Given the description of an element on the screen output the (x, y) to click on. 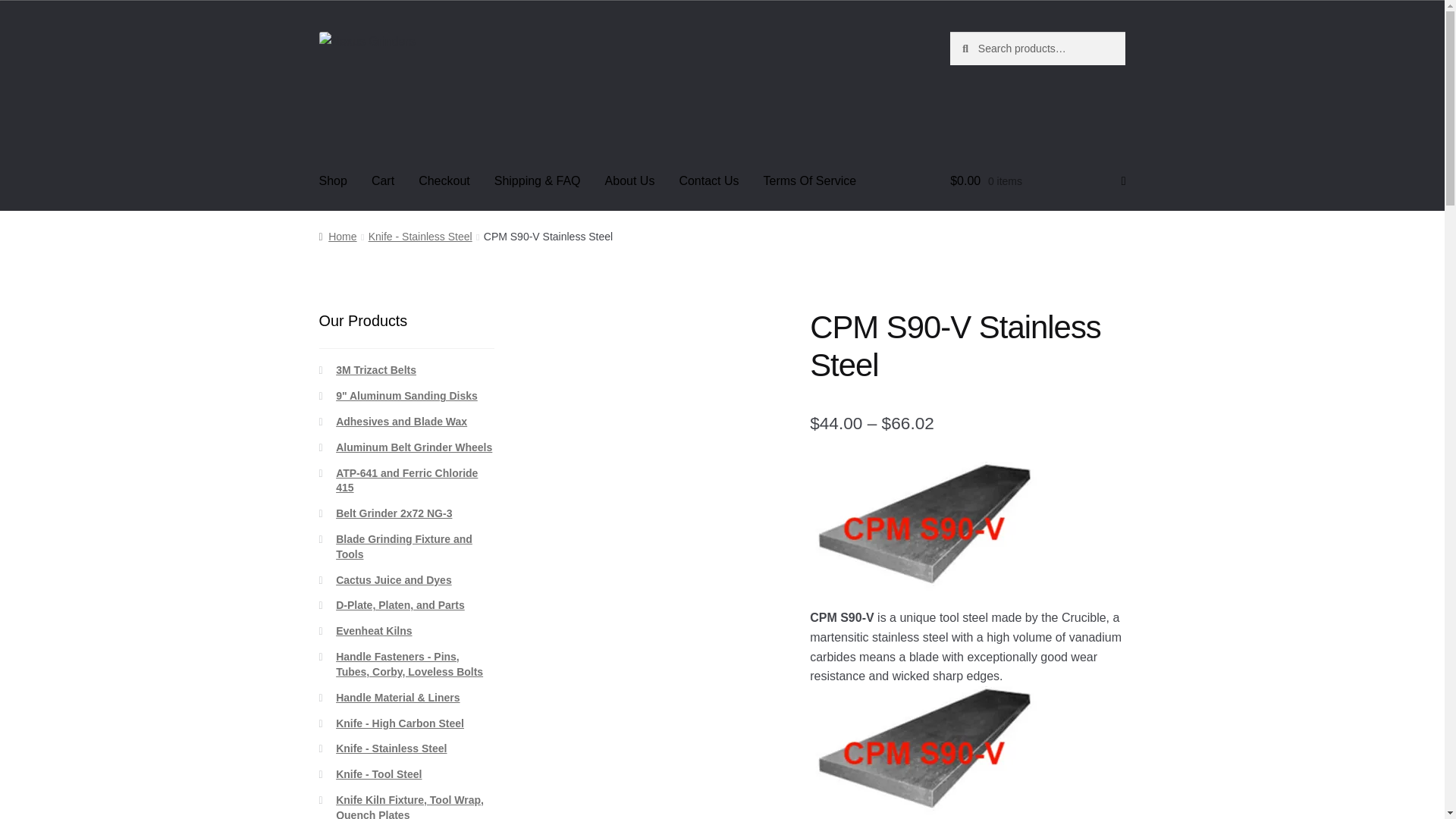
9" Aluminum Sanding Disks (406, 395)
3M Trizact Belts (376, 369)
Checkout (443, 180)
About Us (629, 180)
View your shopping cart (1037, 180)
Contact Us (708, 180)
Knife - Stainless Steel (419, 236)
Shop (333, 180)
Home (337, 236)
Terms Of Service (810, 180)
Cart (382, 180)
